Given the description of an element on the screen output the (x, y) to click on. 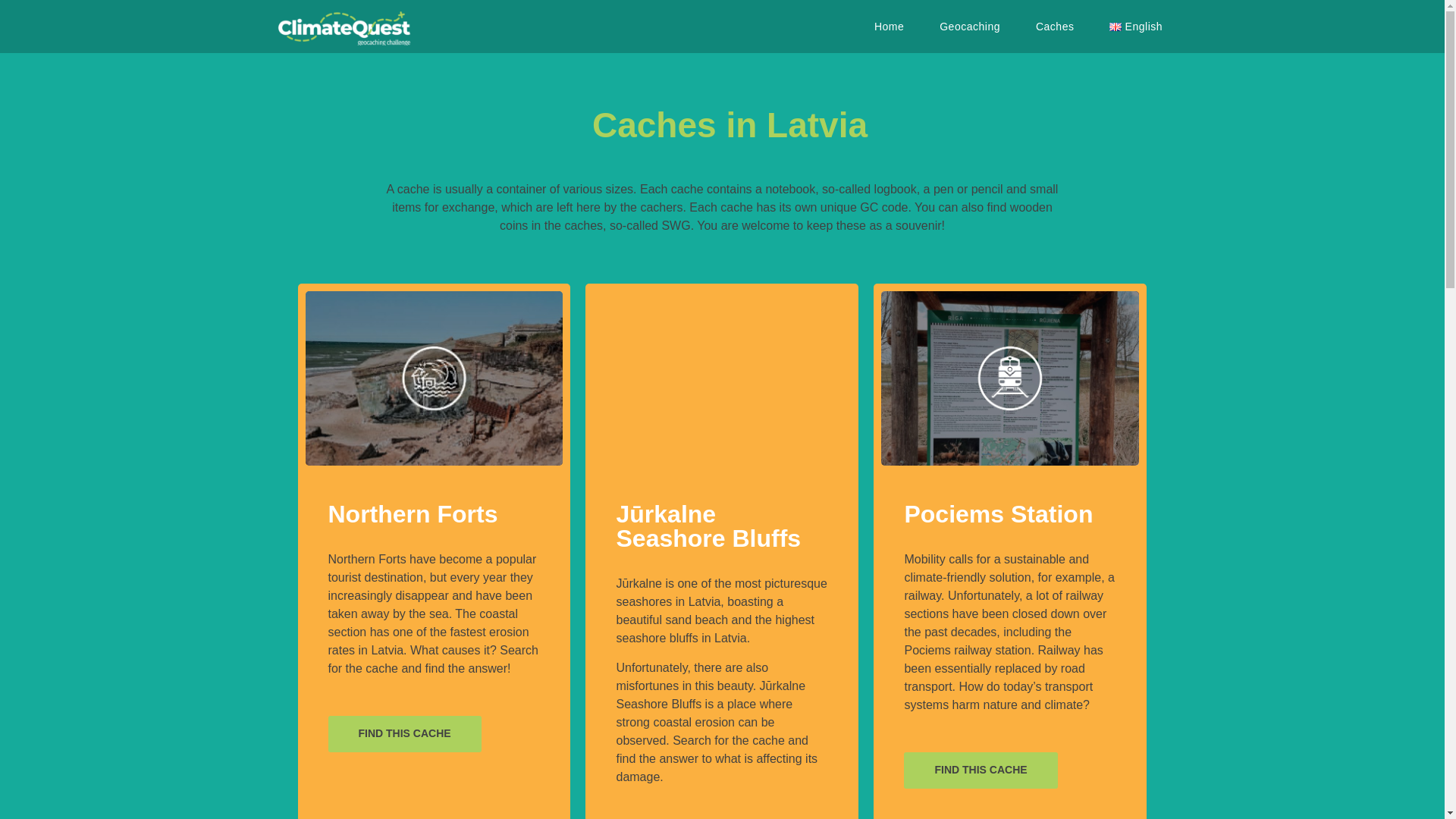
Caches (1054, 26)
Home (888, 26)
Geocaching (969, 26)
English (1136, 26)
